Given the description of an element on the screen output the (x, y) to click on. 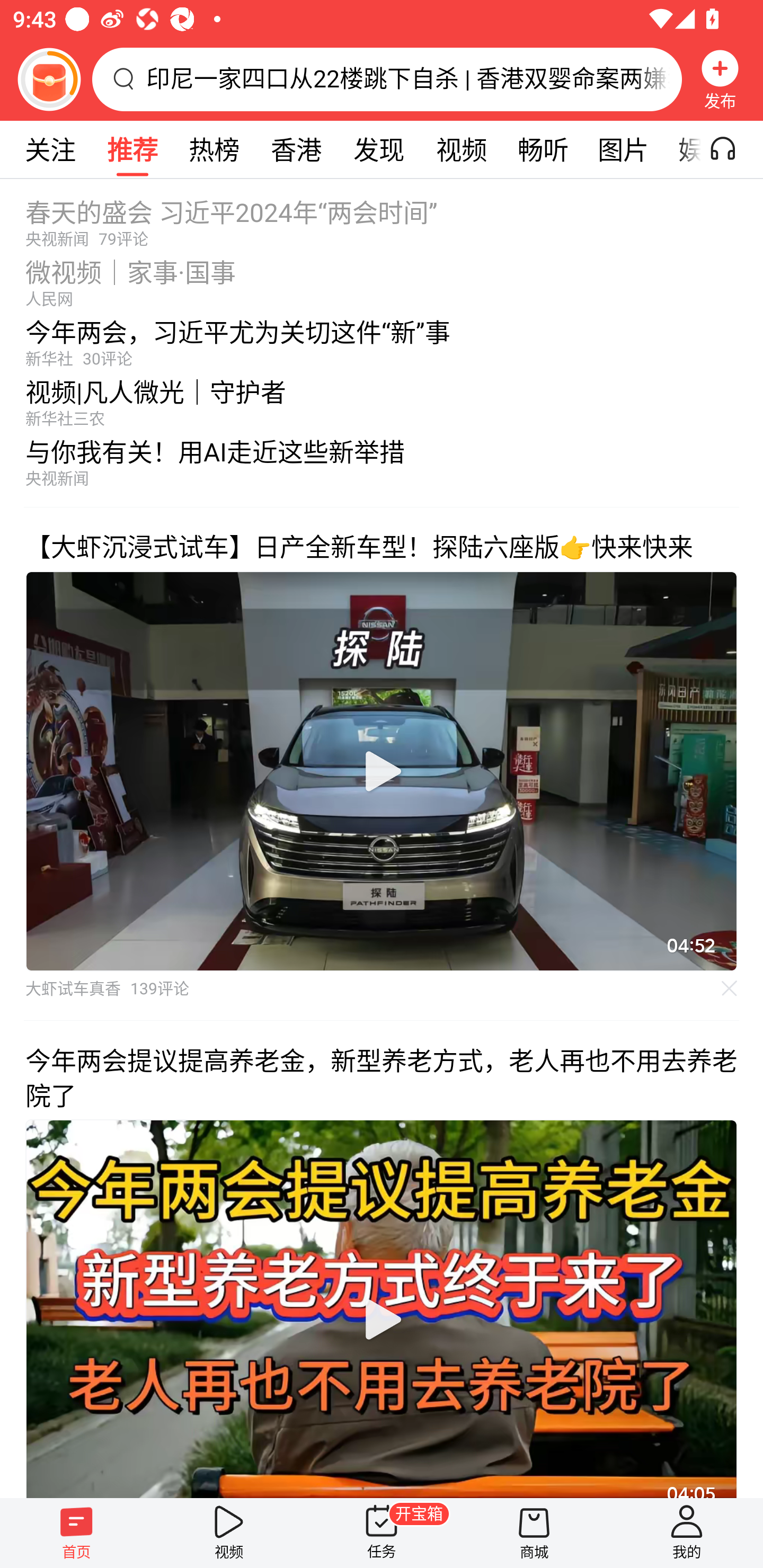
阅读赚金币 (48, 79)
发布 发布，按钮 (720, 78)
关注 (50, 149)
推荐 (132, 149)
热榜 (213, 149)
香港 (295, 149)
发现 (378, 149)
视频 (461, 149)
畅听 (542, 149)
图片 (623, 149)
听一听开关 (732, 149)
微视频｜家事·国事人民网 视频 微视频｜家事·国事 人民网 (381, 277)
视频|凡人微光｜守护者新华社三农 文章 视频|凡人微光｜守护者 新华社三农 (381, 398)
与你我有关！用AI走近这些新举措央视新闻 文章 与你我有关！用AI走近这些新举措 央视新闻 (381, 467)
播放视频 视频播放器，双击屏幕打开播放控制 (381, 771)
播放视频 (381, 771)
不感兴趣 (729, 987)
播放视频 视频播放器，双击屏幕打开播放控制 (381, 1308)
播放视频 (381, 1319)
首页 (76, 1532)
视频 (228, 1532)
任务 开宝箱 (381, 1532)
商城 (533, 1532)
我的 (686, 1532)
